Given the description of an element on the screen output the (x, y) to click on. 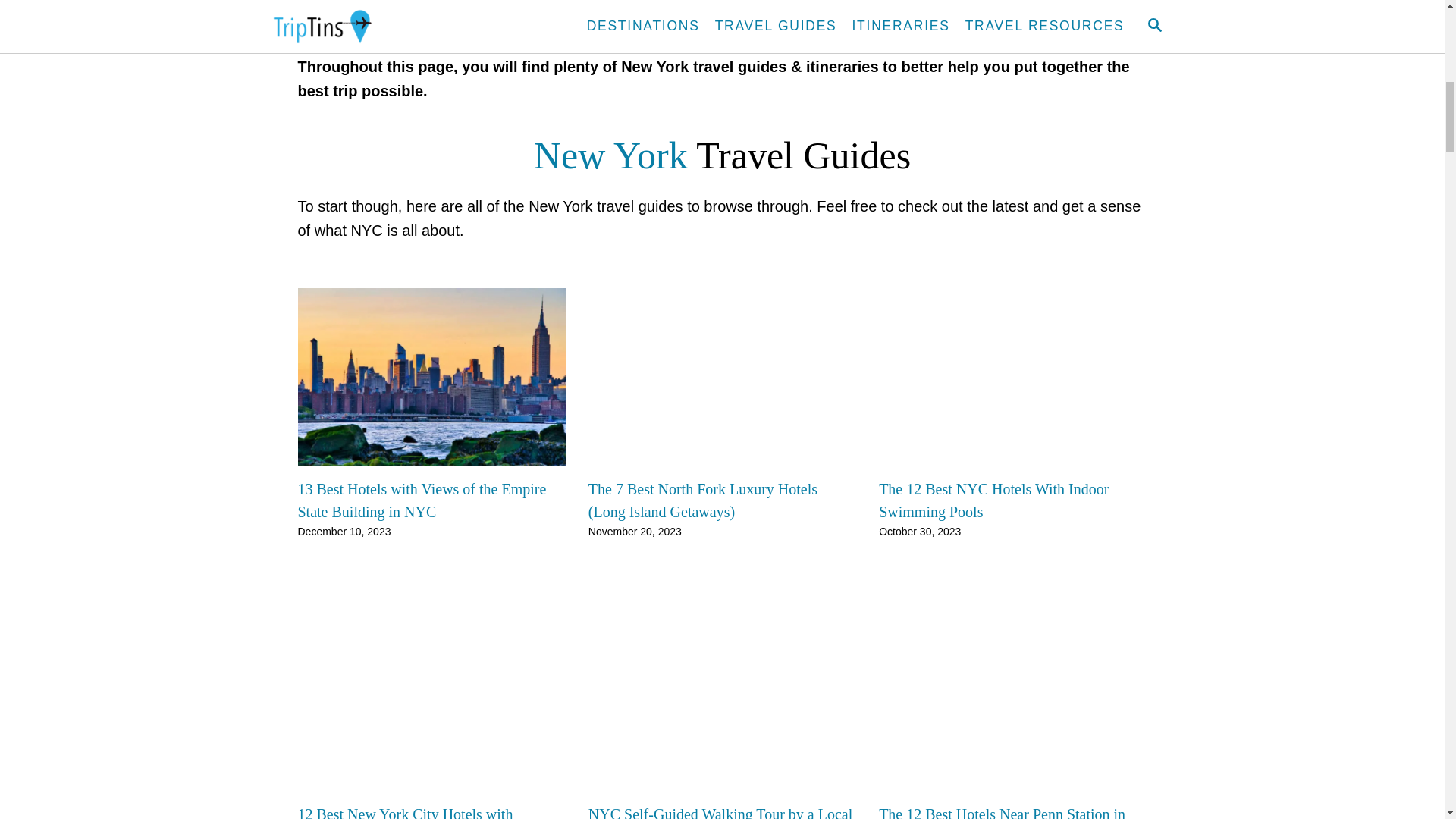
Brooklyn Bridge (833, 2)
Central Park (575, 2)
The 12 Best Hotels Near Penn Station in New York City (1013, 811)
The 12 Best NYC Hotels With Indoor Swimming Pools (1013, 500)
